Given the description of an element on the screen output the (x, y) to click on. 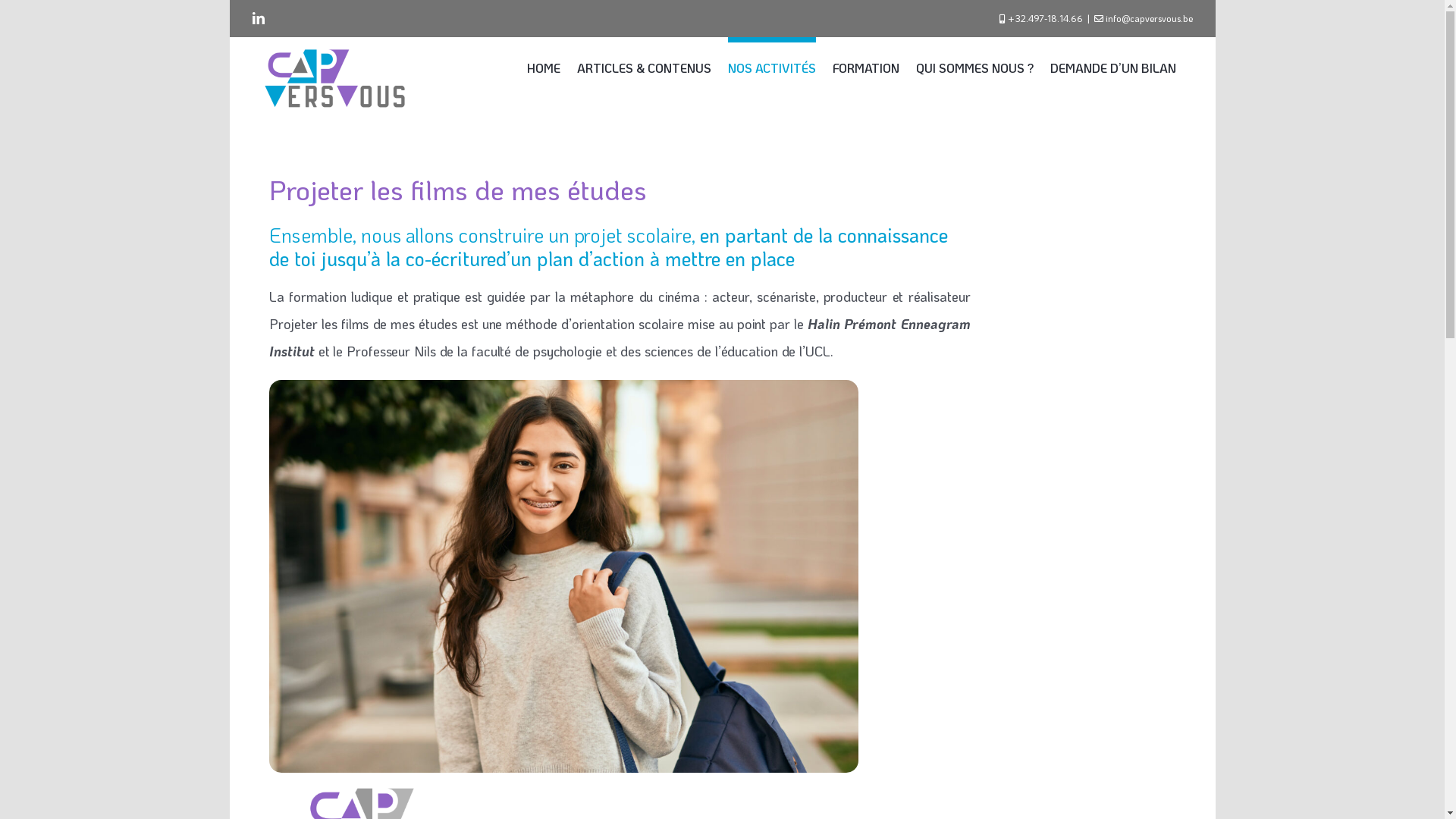
Young,Middle,East,Student,Girl,Smiling,Happy,Standing,At,The Element type: hover (563, 575)
LinkedIn Element type: text (257, 18)
FORMATION Element type: text (865, 65)
ARTICLES & CONTENUS Element type: text (643, 65)
HOME Element type: text (542, 65)
+32.497-18.14.66 Element type: text (1044, 18)
info@capversvous.be Element type: text (1148, 18)
QUI SOMMES NOUS ? Element type: text (974, 65)
